Given the description of an element on the screen output the (x, y) to click on. 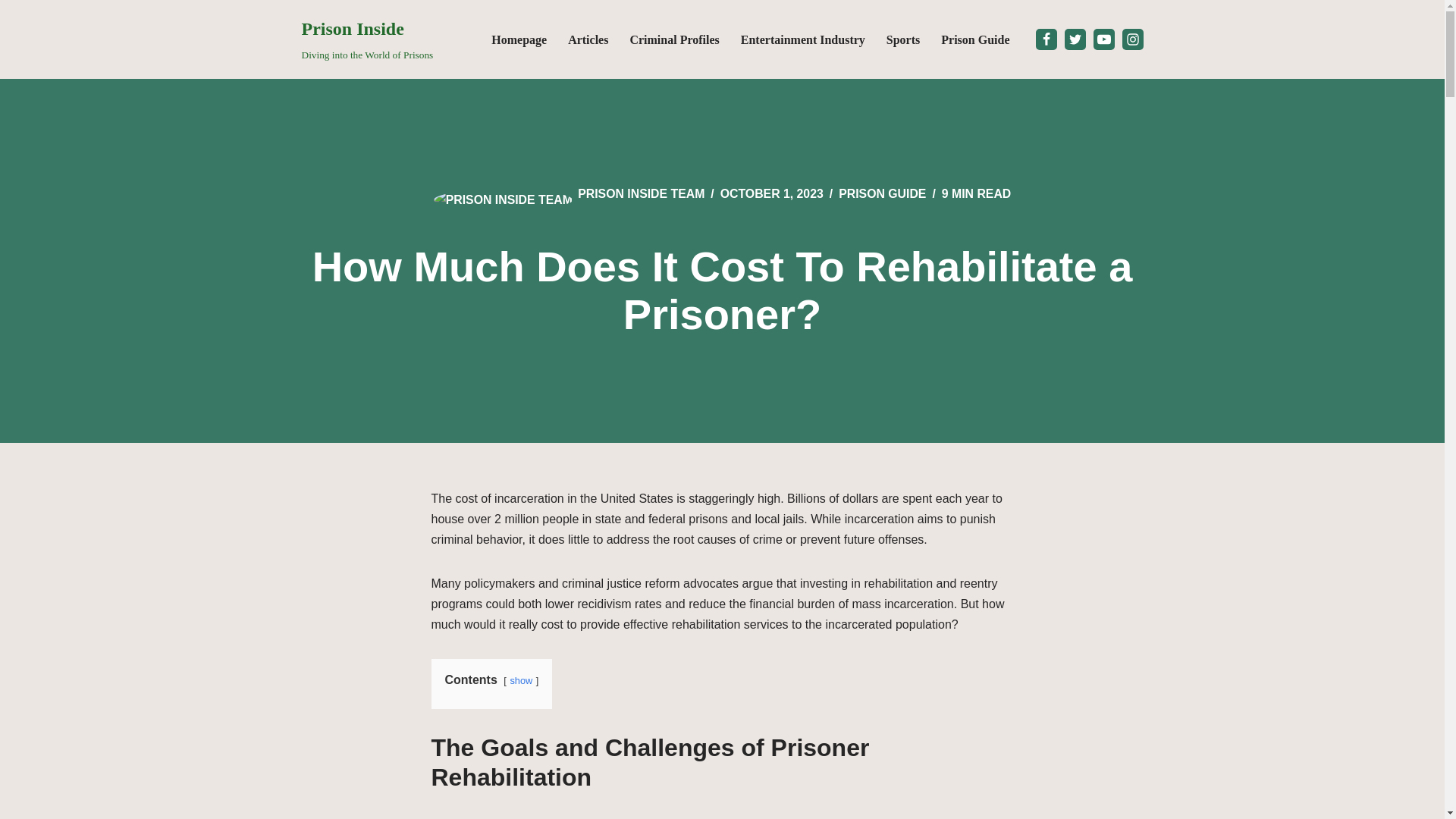
Homepage (519, 39)
Facebook (1046, 38)
Posts by Prison Inside Team (641, 193)
Youtube (1104, 38)
Sports (367, 39)
Instagram (903, 39)
PRISON GUIDE (1132, 38)
Criminal Profiles (882, 193)
Navigation Menu (673, 39)
